Given the description of an element on the screen output the (x, y) to click on. 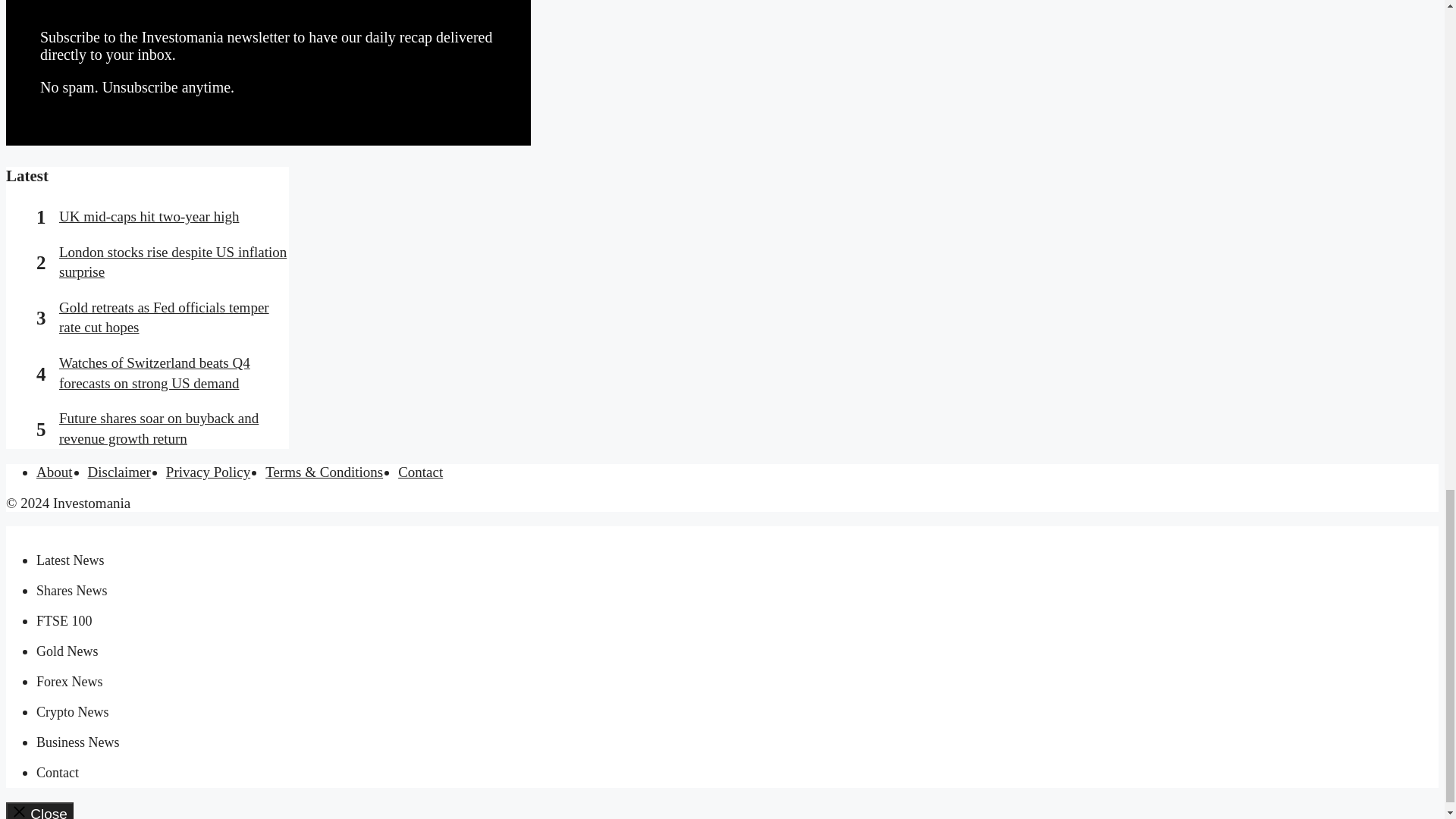
Gold retreats as Fed officials temper rate cut hopes (164, 317)
Gold News (67, 651)
Contact (57, 772)
Contact (419, 471)
FTSE 100 (64, 620)
London stocks rise despite US inflation surprise (172, 262)
Forex News (69, 681)
Privacy Policy (207, 471)
UK mid-caps hit two-year high (148, 216)
About (54, 471)
Future shares soar on buyback and revenue growth return (159, 428)
Latest News (69, 560)
Crypto News (72, 711)
Business News (77, 742)
